Given the description of an element on the screen output the (x, y) to click on. 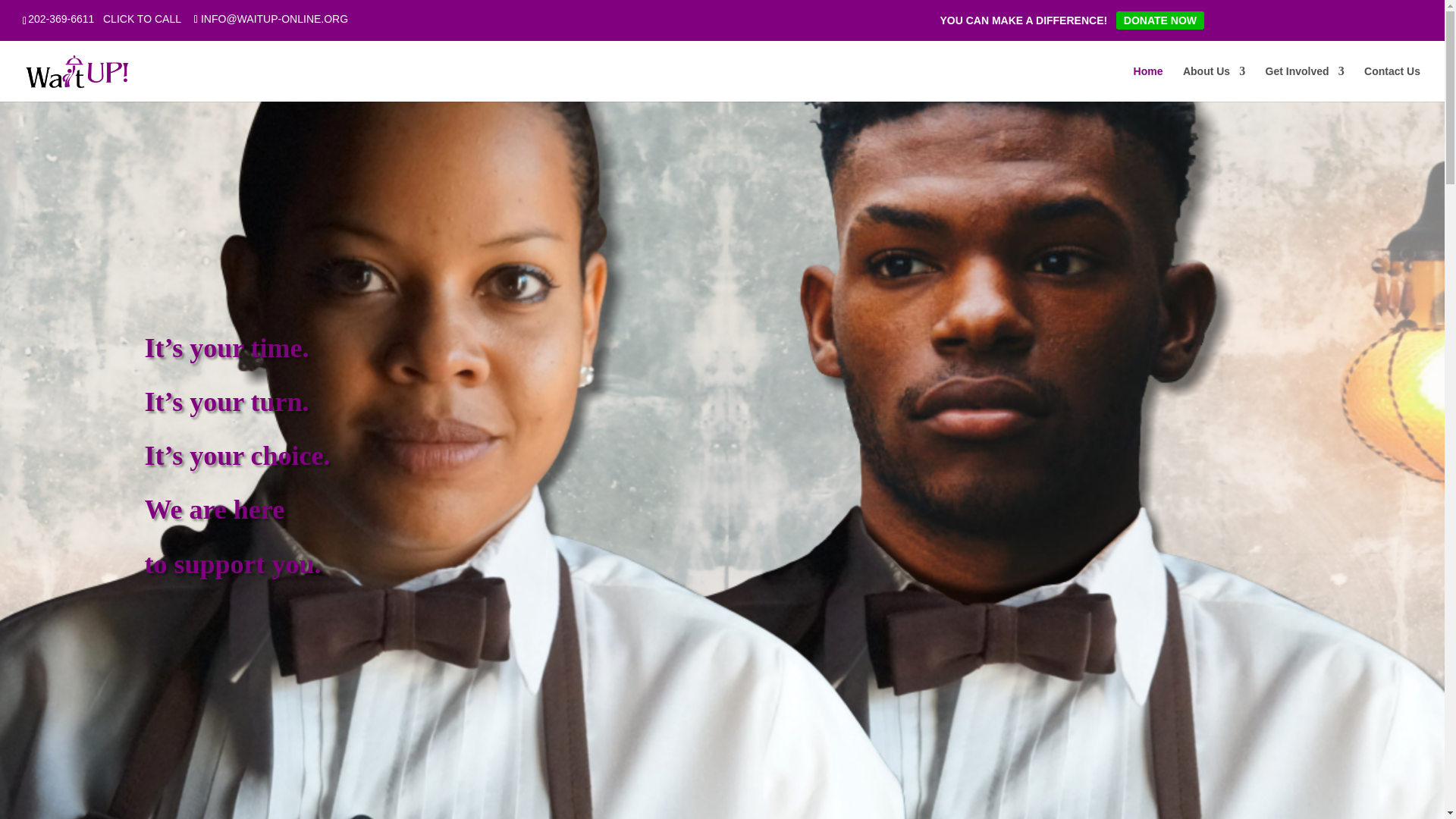
Get Involved (1304, 83)
DONATE NOW (1160, 20)
Contact Us (1392, 83)
202-369-6611   CLICK TO CALL (103, 19)
About Us (1213, 83)
